Given the description of an element on the screen output the (x, y) to click on. 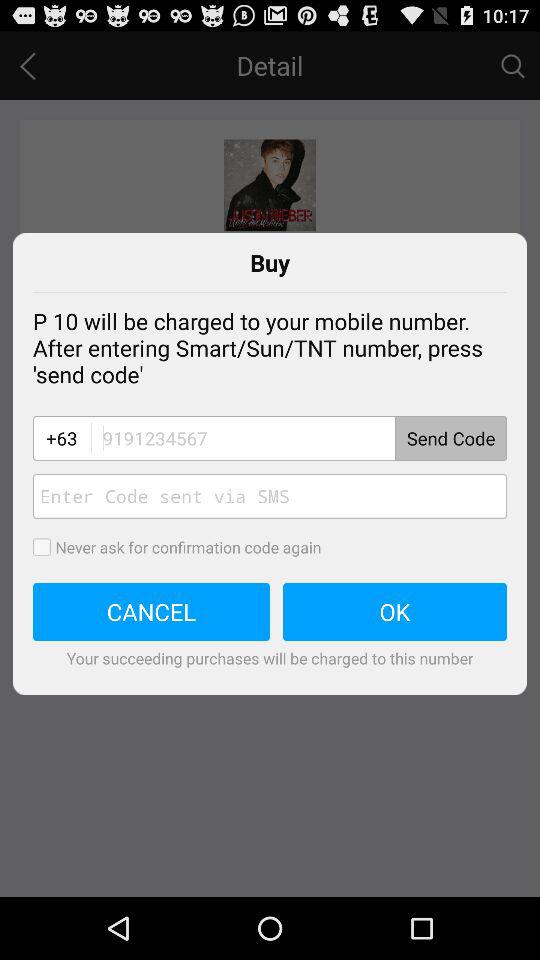
swipe until cancel (151, 611)
